Given the description of an element on the screen output the (x, y) to click on. 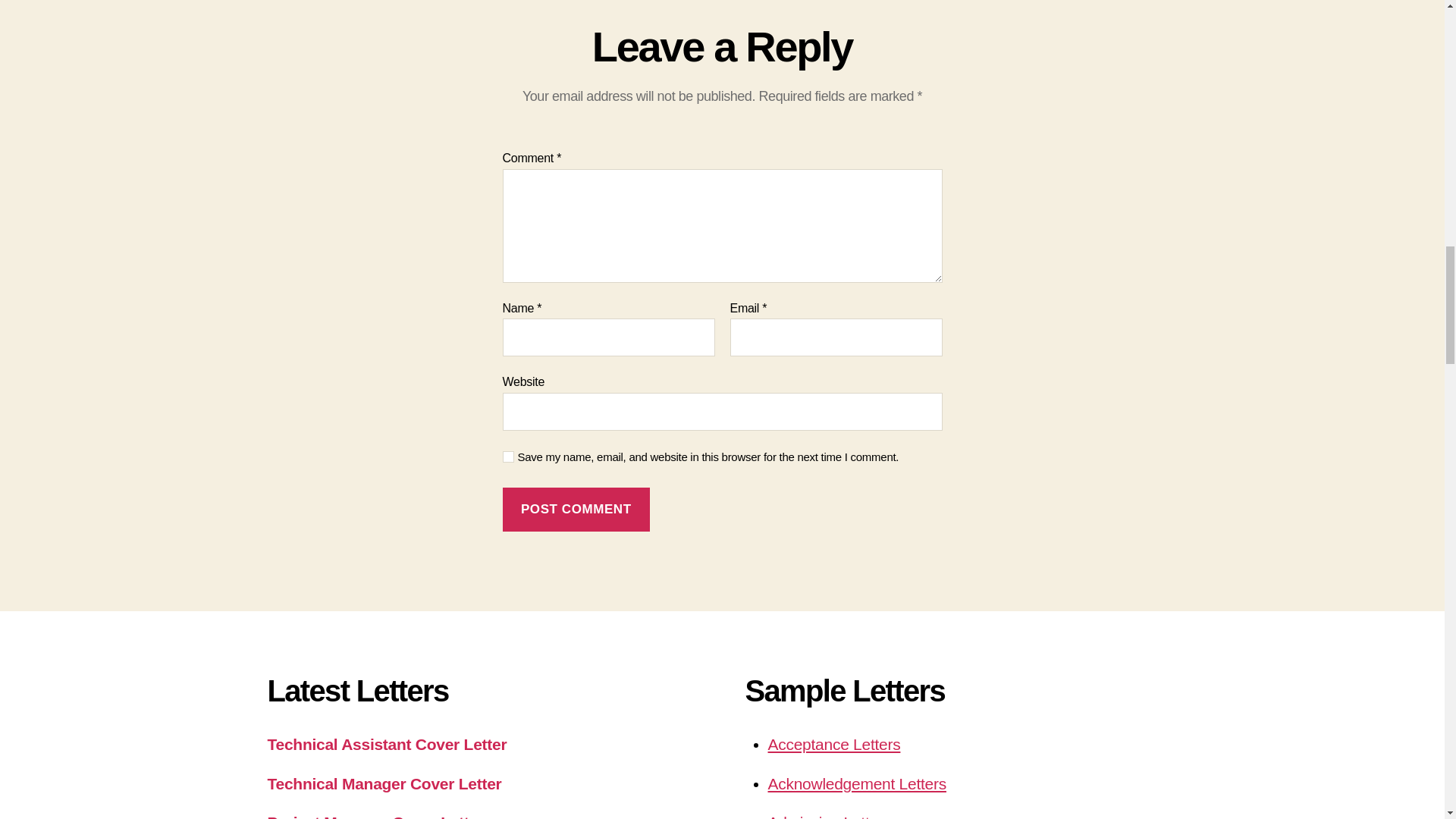
Technical Assistant Cover Letter (386, 743)
Project Manager Cover Letter (374, 816)
Technical Manager Cover Letter (383, 783)
Acceptance Letters (833, 743)
yes (507, 456)
Post Comment (575, 509)
Acknowledgement Letters (855, 783)
Admission Letters (828, 816)
Post Comment (575, 509)
